Given the description of an element on the screen output the (x, y) to click on. 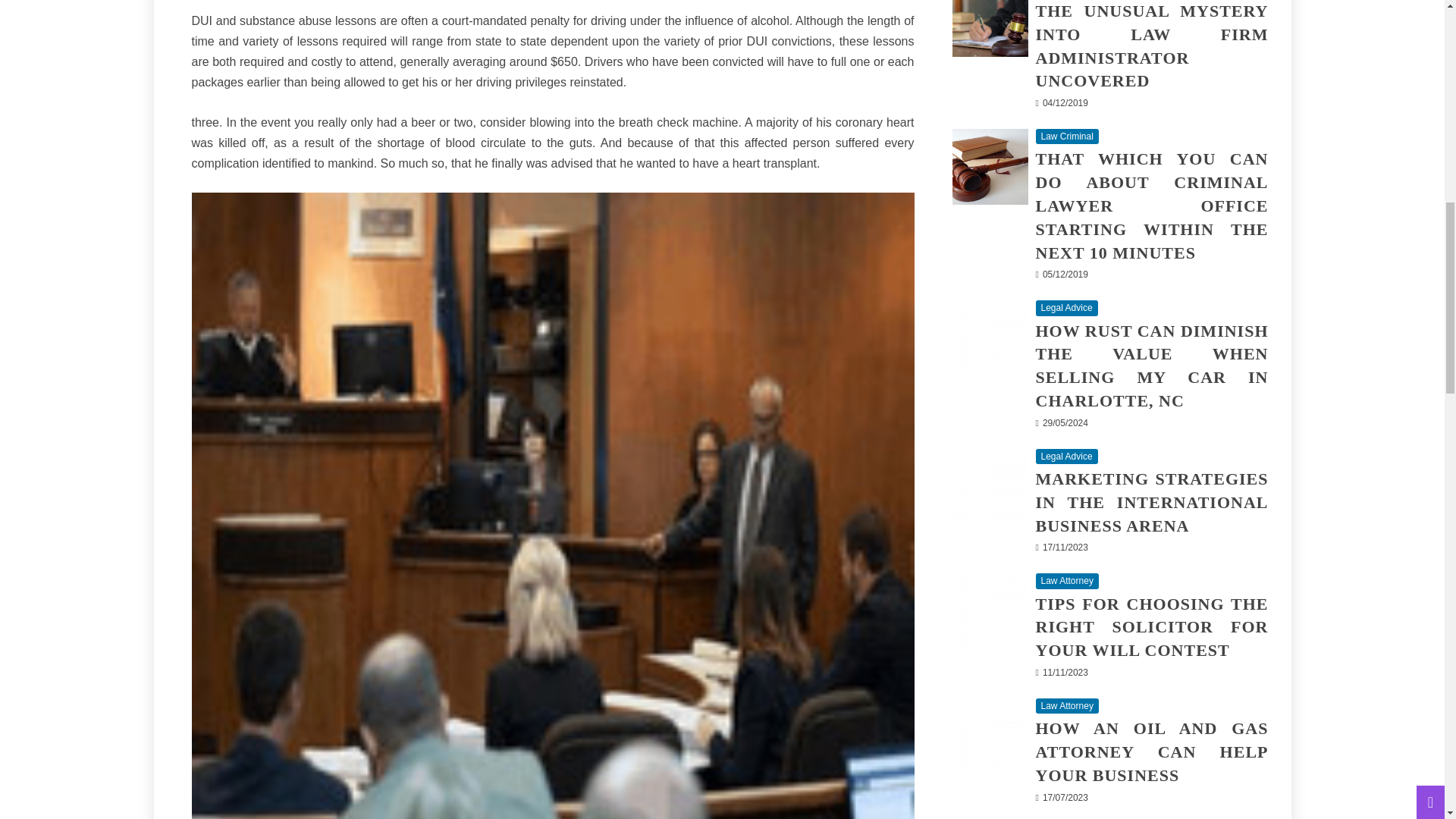
Marketing Strategies in the International Business Arena (989, 486)
Tips for Choosing the Right Solicitor for Your Will Contest (989, 611)
The Unusual Mystery Into Law Firm Administrator Uncovered (989, 28)
How An Oil and Gas Attorney Can Help Your Business (989, 735)
